Given the description of an element on the screen output the (x, y) to click on. 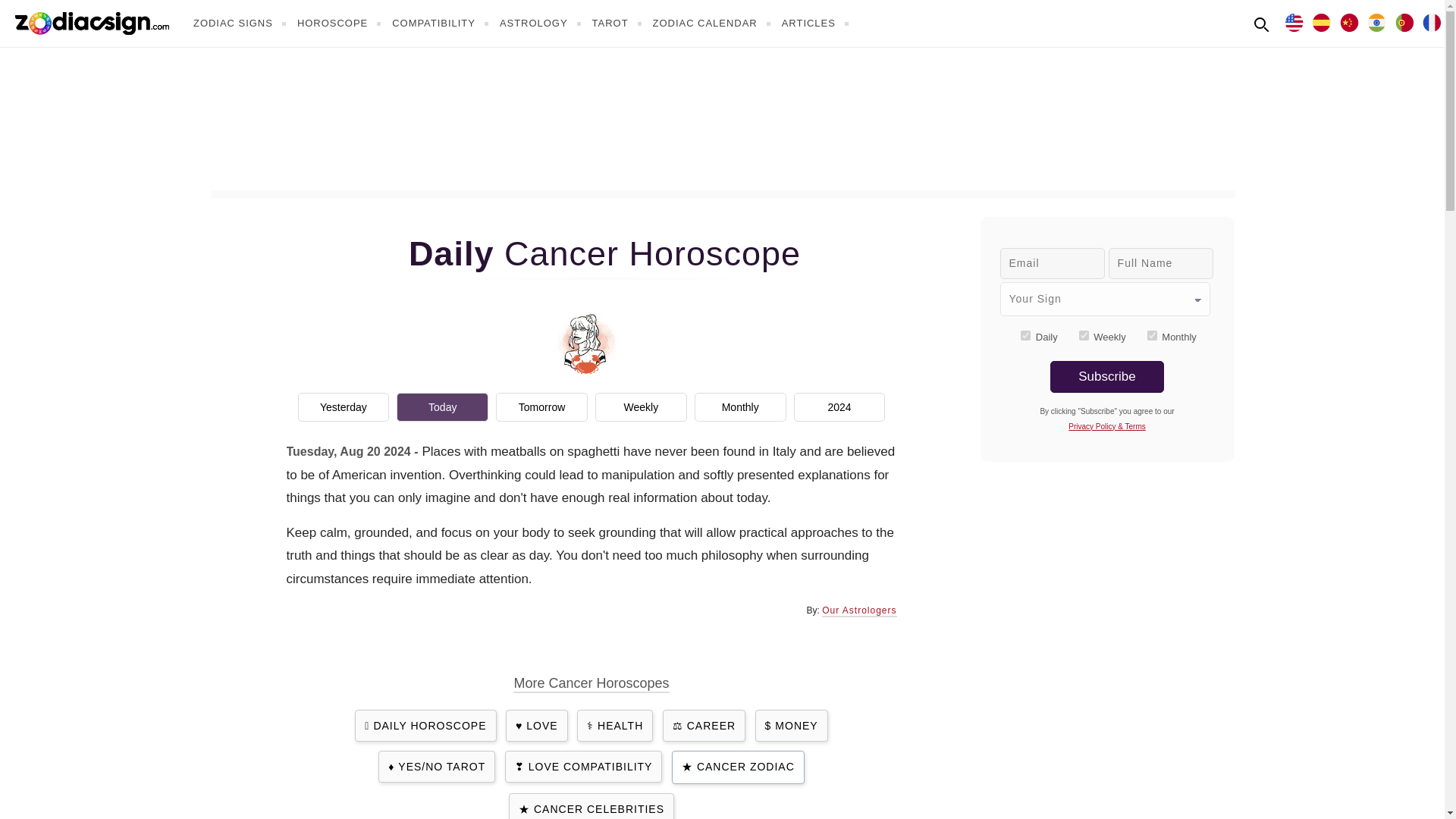
In English (1294, 21)
weekly (1083, 335)
HOROSCOPE (341, 23)
monthly (1152, 335)
daily (1025, 335)
ZODIAC SIGNS (241, 23)
